Given the description of an element on the screen output the (x, y) to click on. 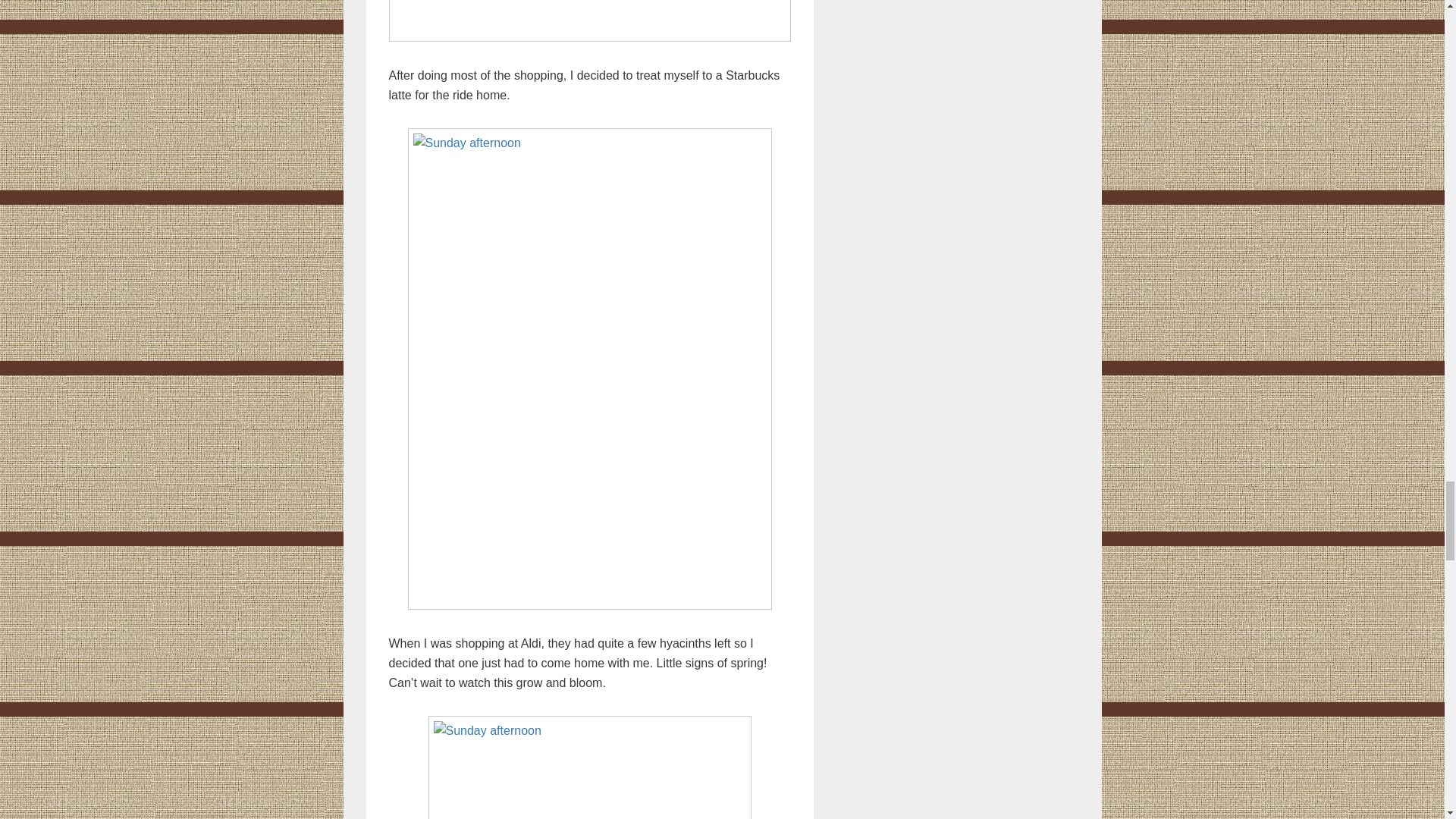
Sunday afternoon (589, 20)
